Given the description of an element on the screen output the (x, y) to click on. 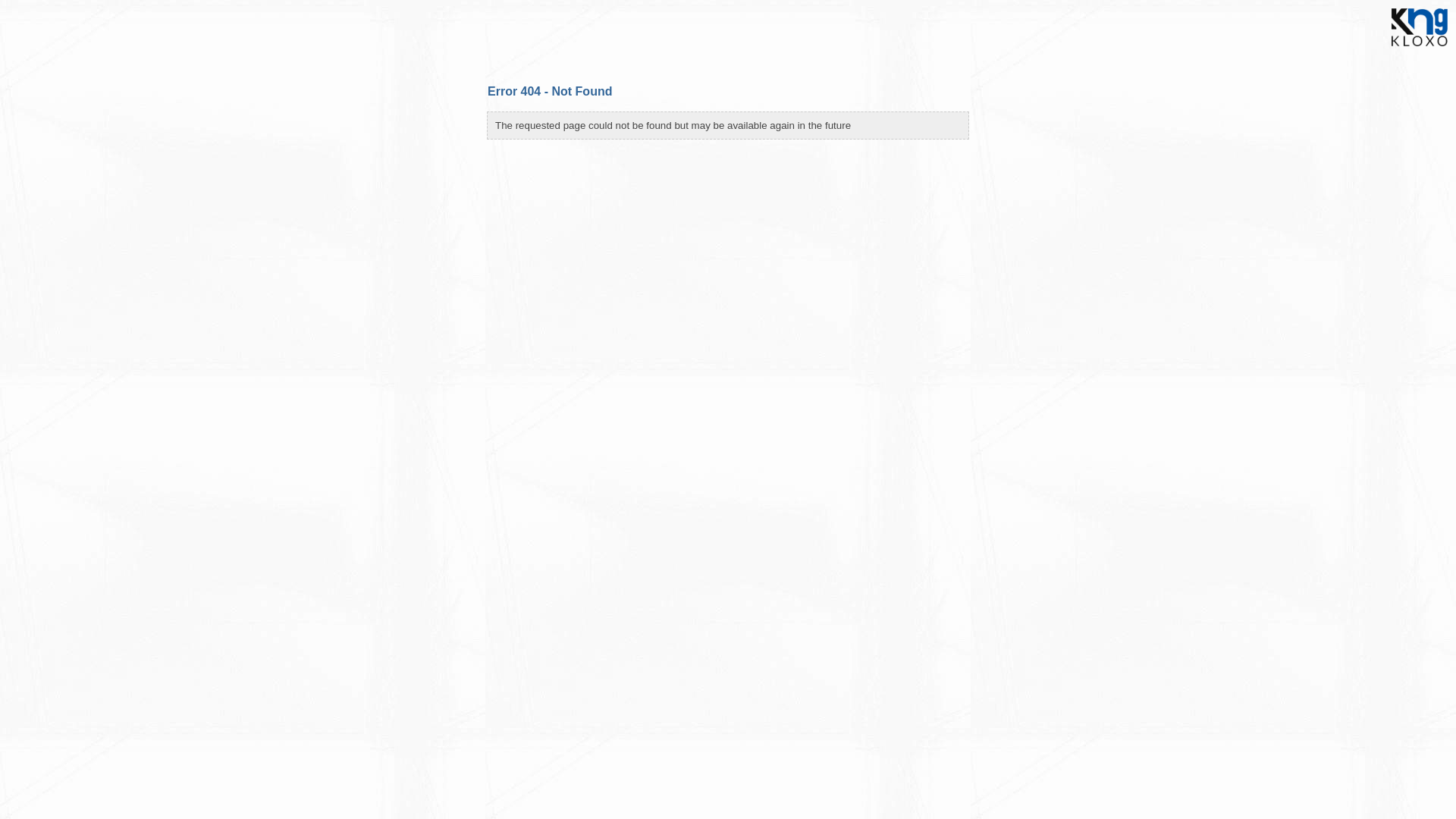
KloxoNG website Element type: hover (1419, 50)
